Given the description of an element on the screen output the (x, y) to click on. 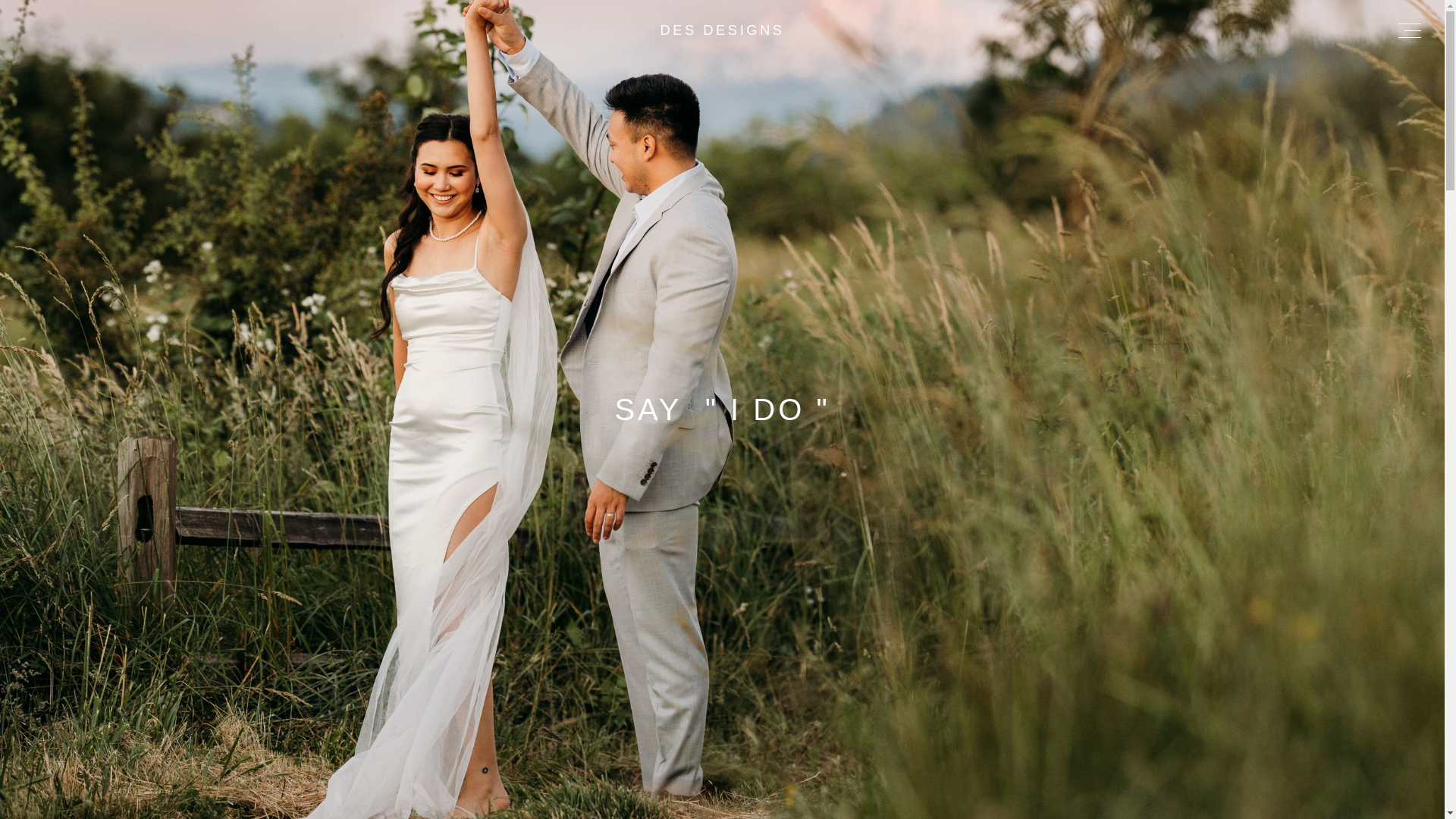
DES DESIGNS (722, 29)
